Given the description of an element on the screen output the (x, y) to click on. 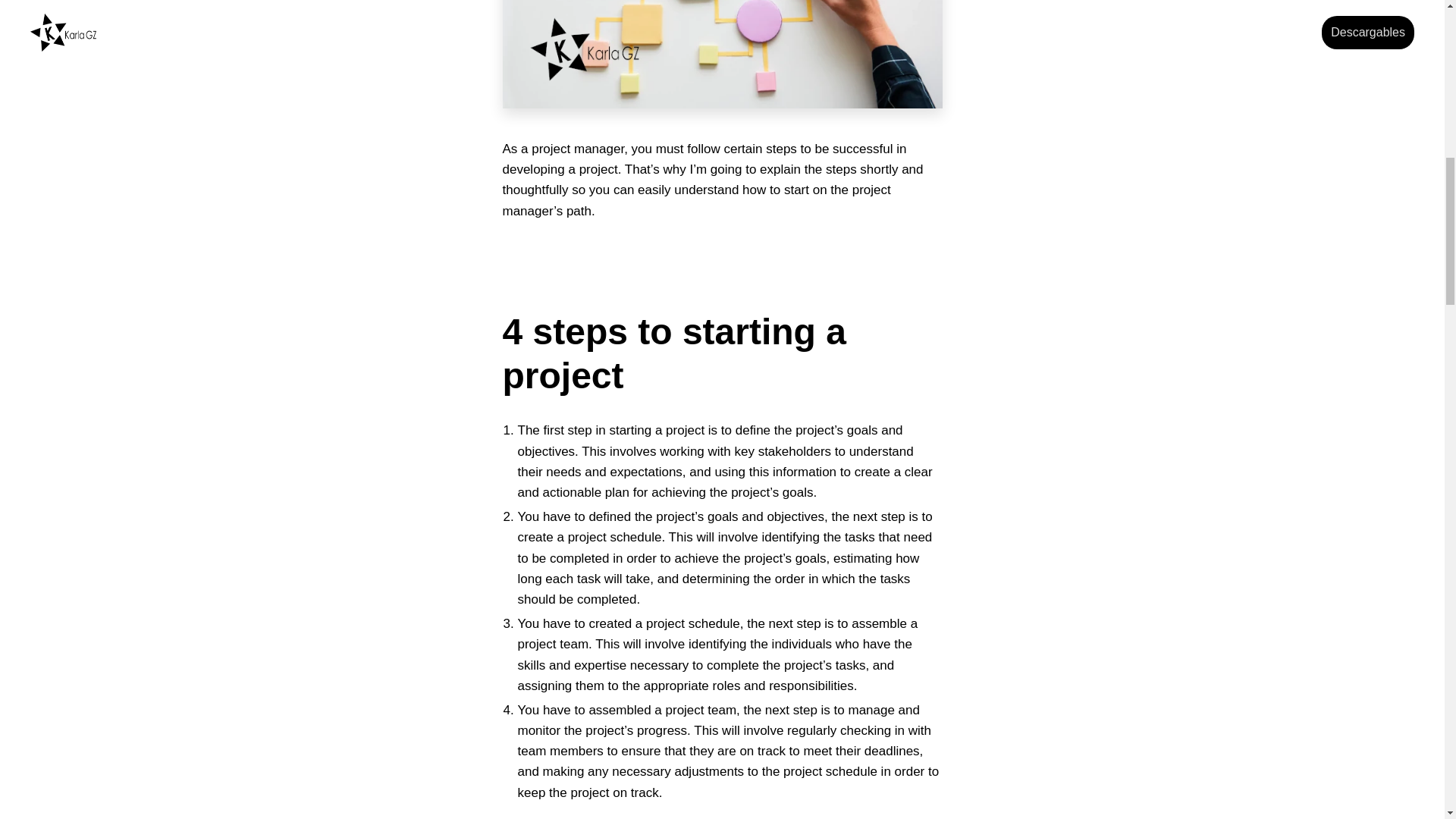
become a project manager karlagz.com (722, 54)
